Given the description of an element on the screen output the (x, y) to click on. 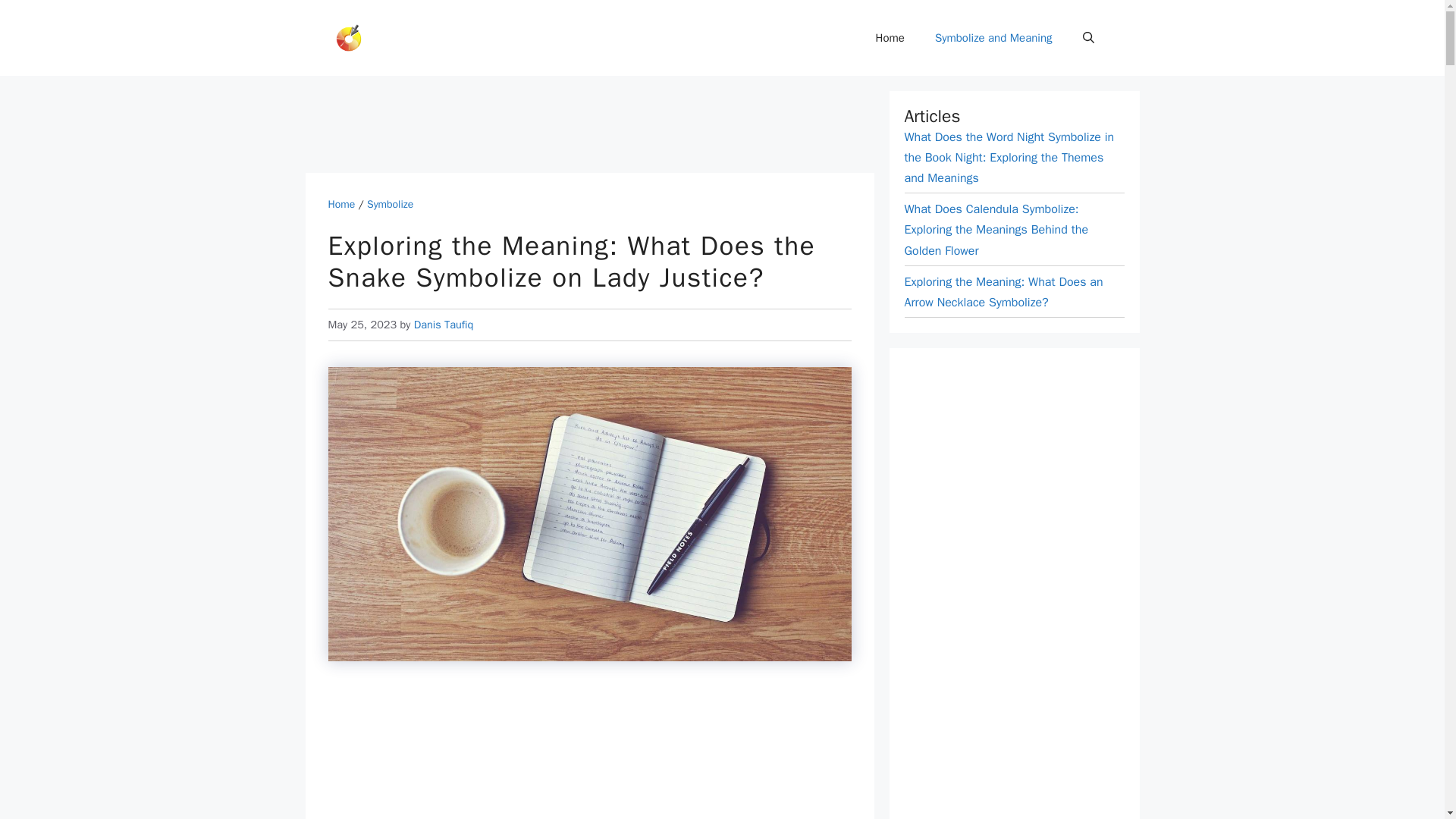
View all posts by Danis Taufiq (443, 324)
Home (890, 37)
Home (341, 204)
Symbolize (389, 204)
Symbolize and Meaning (993, 37)
Danis Taufiq (443, 324)
